Given the description of an element on the screen output the (x, y) to click on. 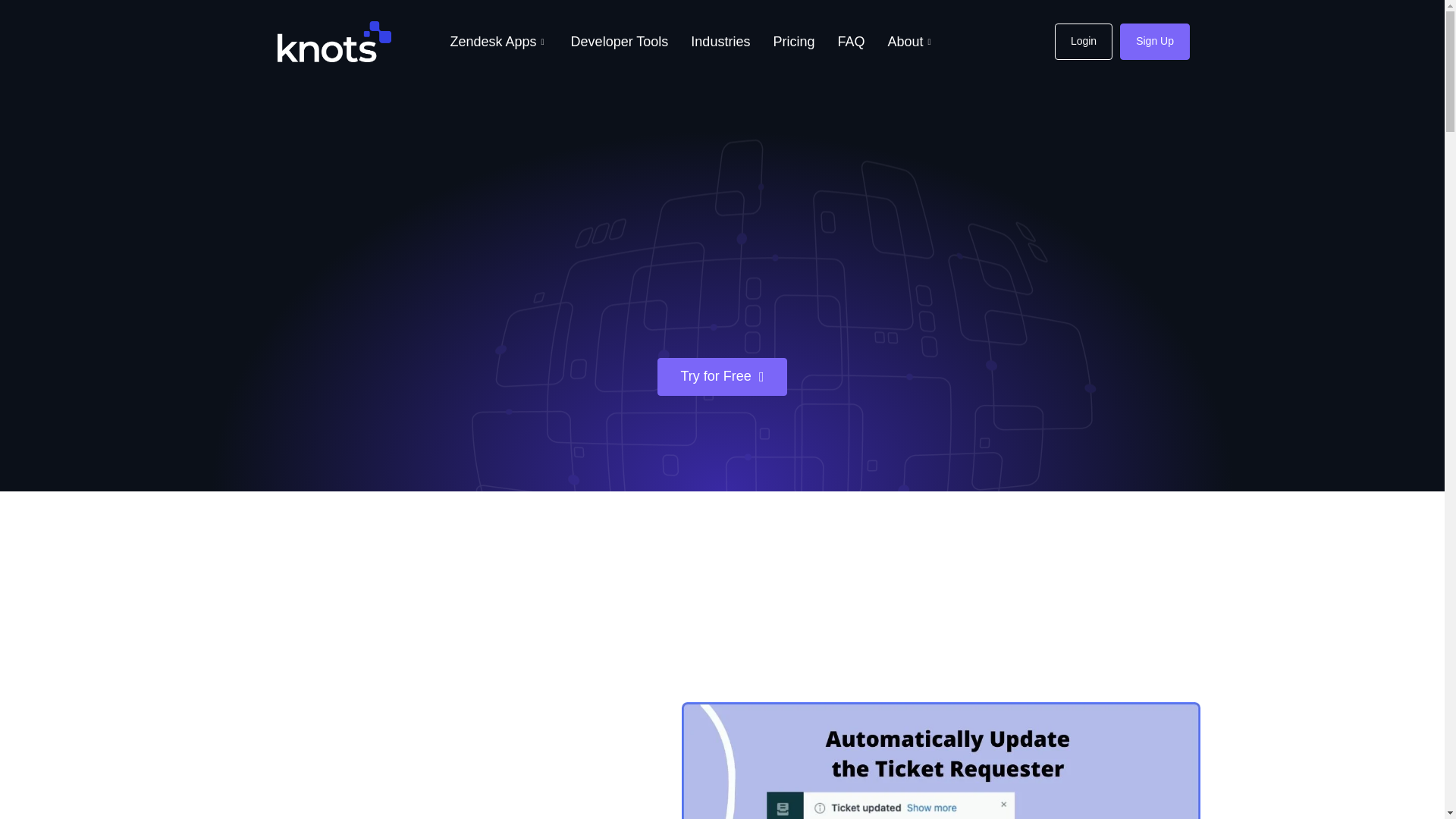
Zendesk Apps (498, 41)
About (910, 41)
Pricing (793, 41)
Try for Free (722, 376)
Industries (720, 41)
Developer Tools (619, 41)
Login (1083, 40)
Sign Up (1154, 40)
